Given the description of an element on the screen output the (x, y) to click on. 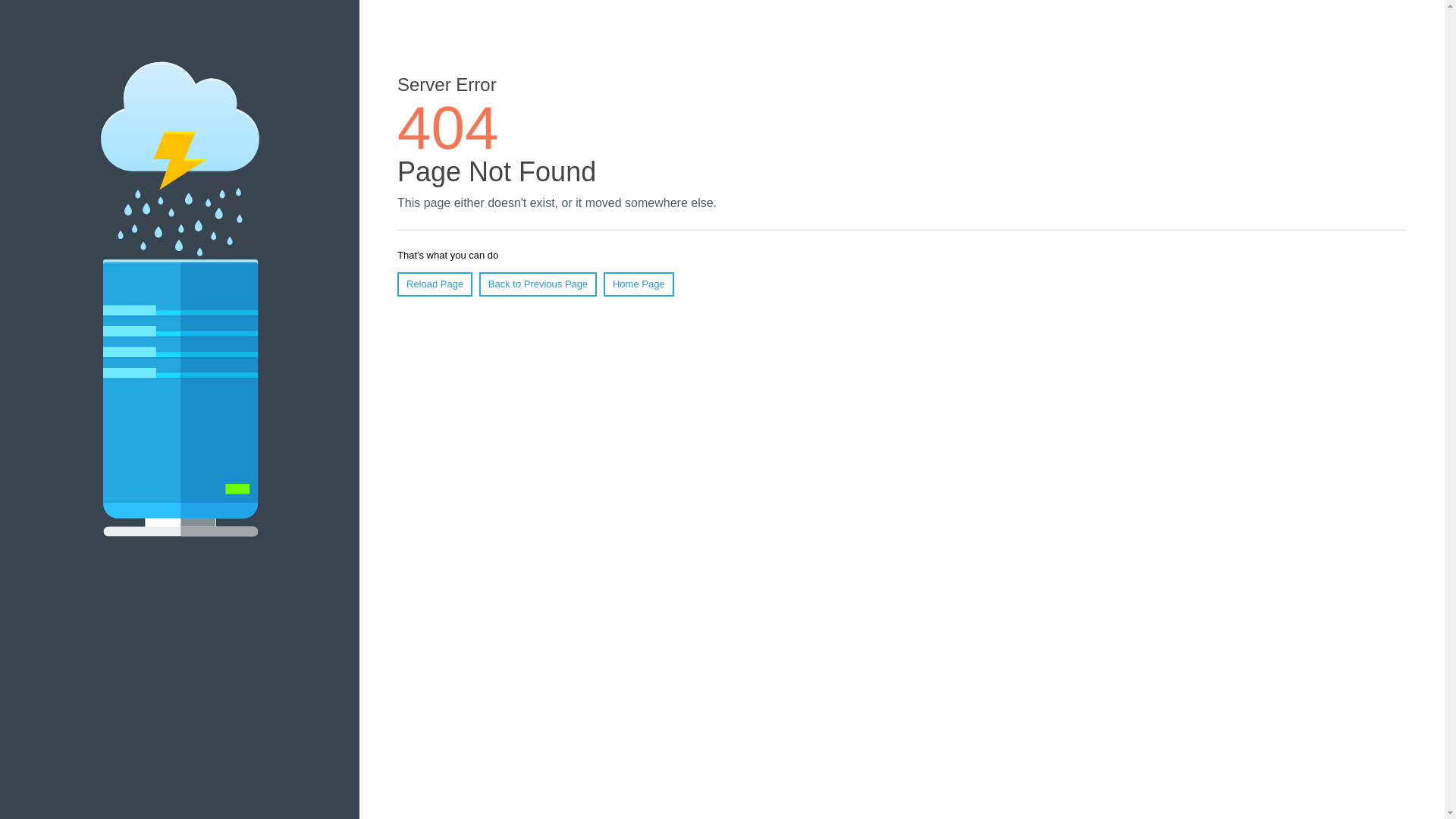
Home Page Element type: text (638, 284)
Reload Page Element type: text (434, 284)
Back to Previous Page Element type: text (538, 284)
